Given the description of an element on the screen output the (x, y) to click on. 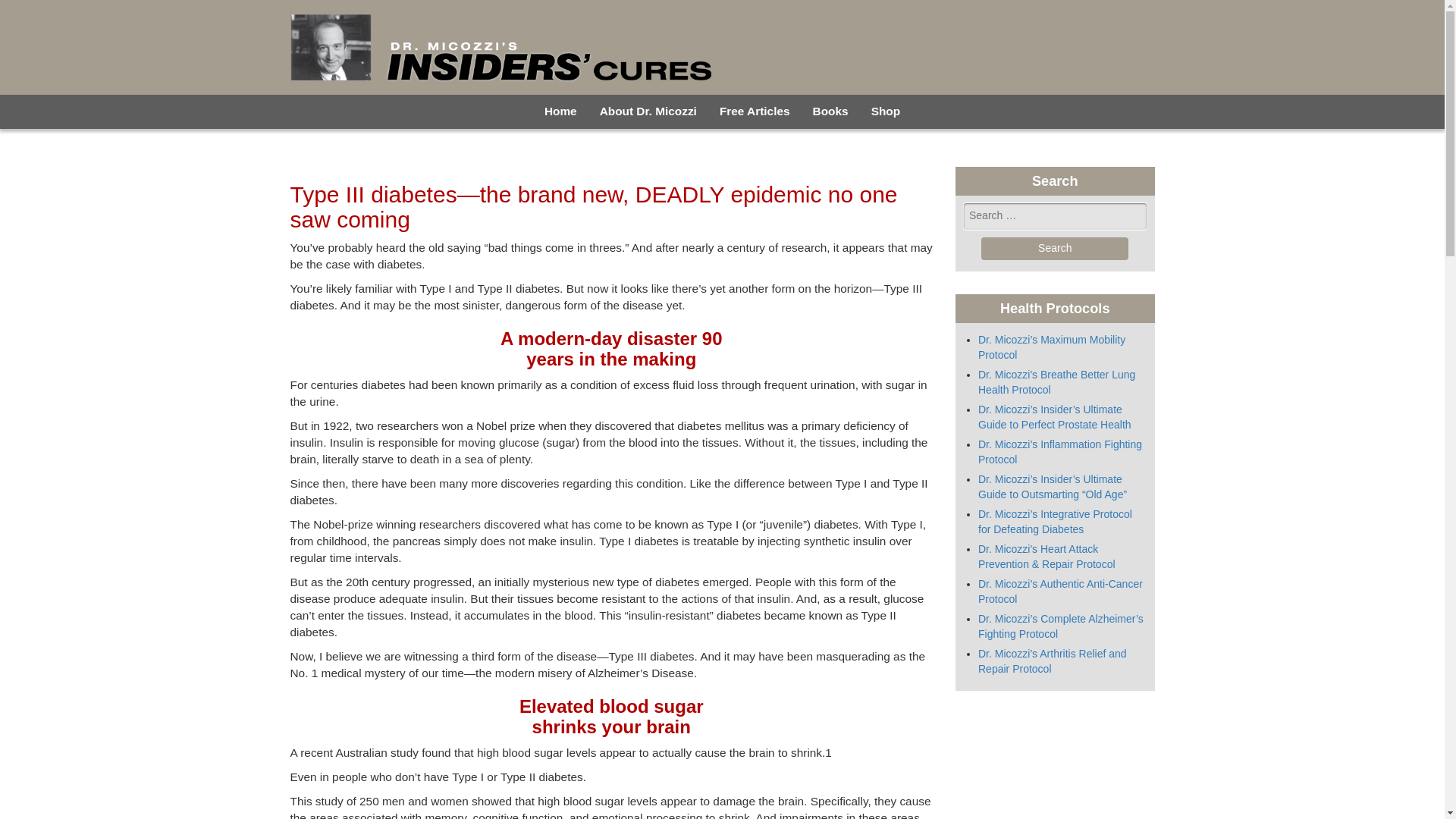
Dr. Micozzi's Breathe Better Lung Health Protocol (1056, 381)
Free Articles (754, 111)
Books (831, 111)
Home (560, 111)
Search (1054, 248)
About Dr. Micozzi (647, 111)
Shop (885, 111)
Dr. Micozzi's Arthritis Relief and Repair Protocol (1052, 660)
Search (1054, 248)
About Dr. Micozzi (647, 111)
